Given the description of an element on the screen output the (x, y) to click on. 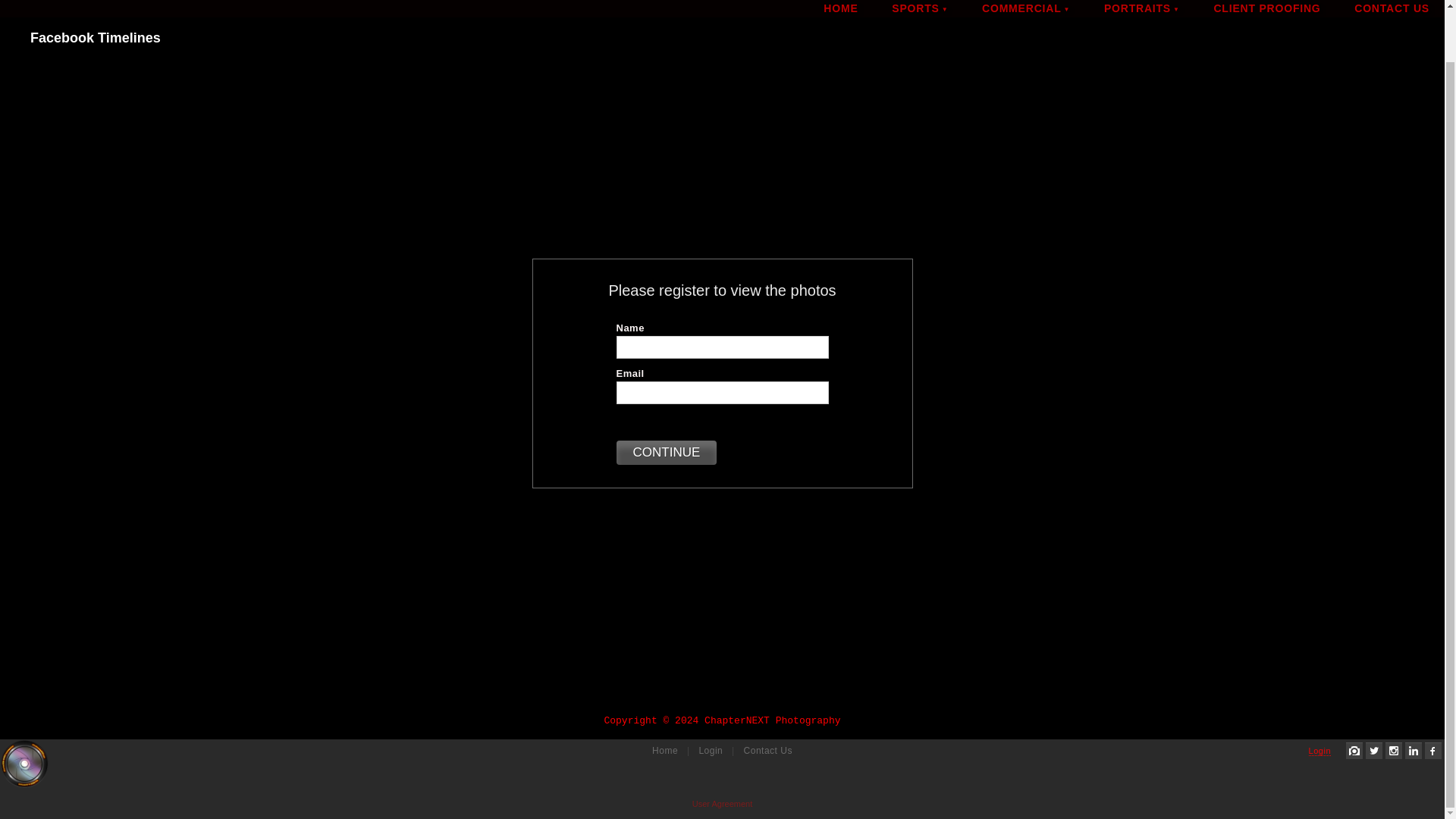
HOME (840, 8)
CLIENT PROOFING (1266, 8)
ChapterNEXT Photography (24, 763)
Home (666, 751)
Login (712, 751)
Login (1319, 750)
